Given the description of an element on the screen output the (x, y) to click on. 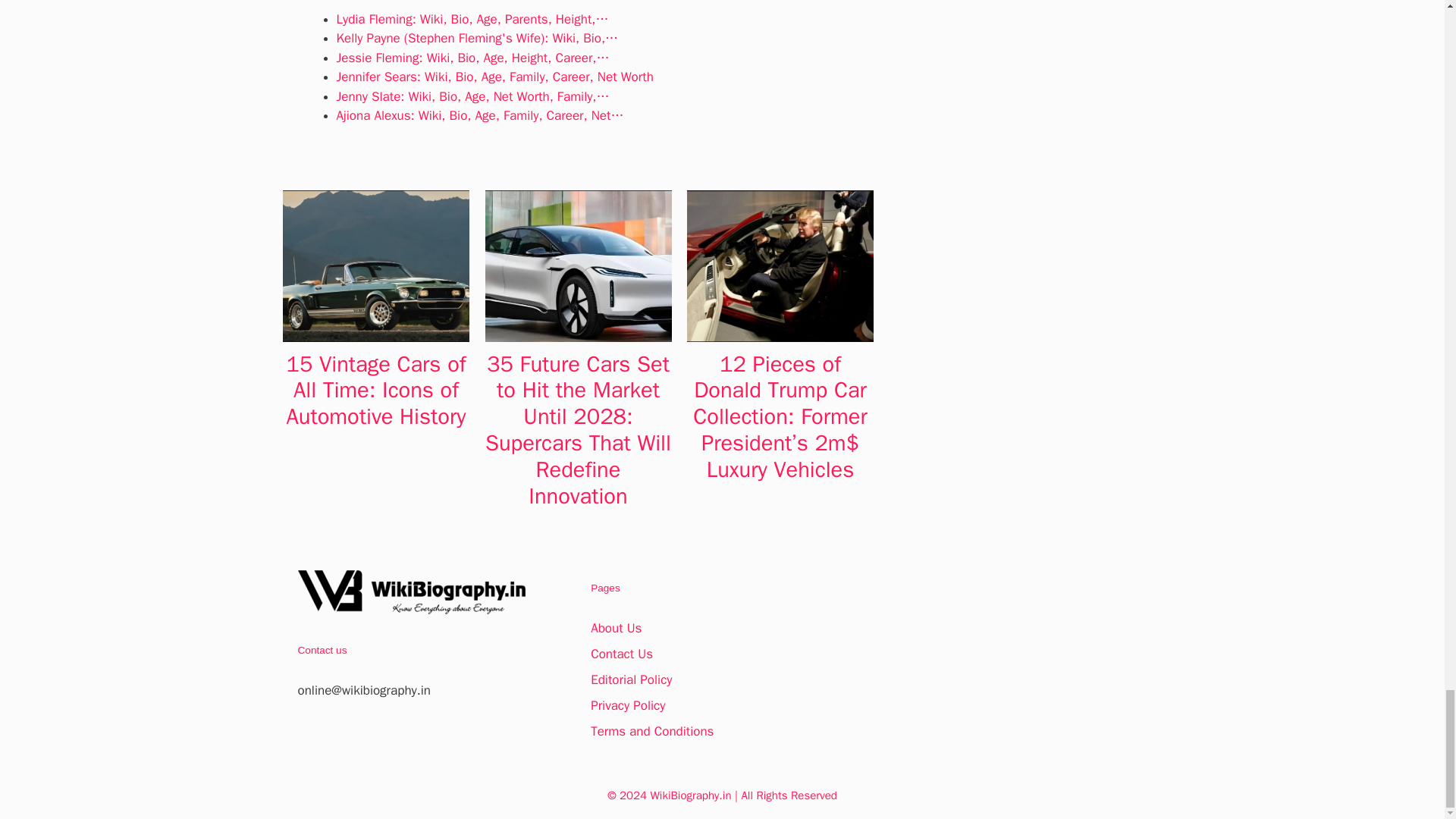
Jennifer Sears: Wiki, Bio, Age, Family, Career, Net Worth (494, 76)
15 Vintage Cars of All Time: Icons of Automotive History (375, 390)
